Given the description of an element on the screen output the (x, y) to click on. 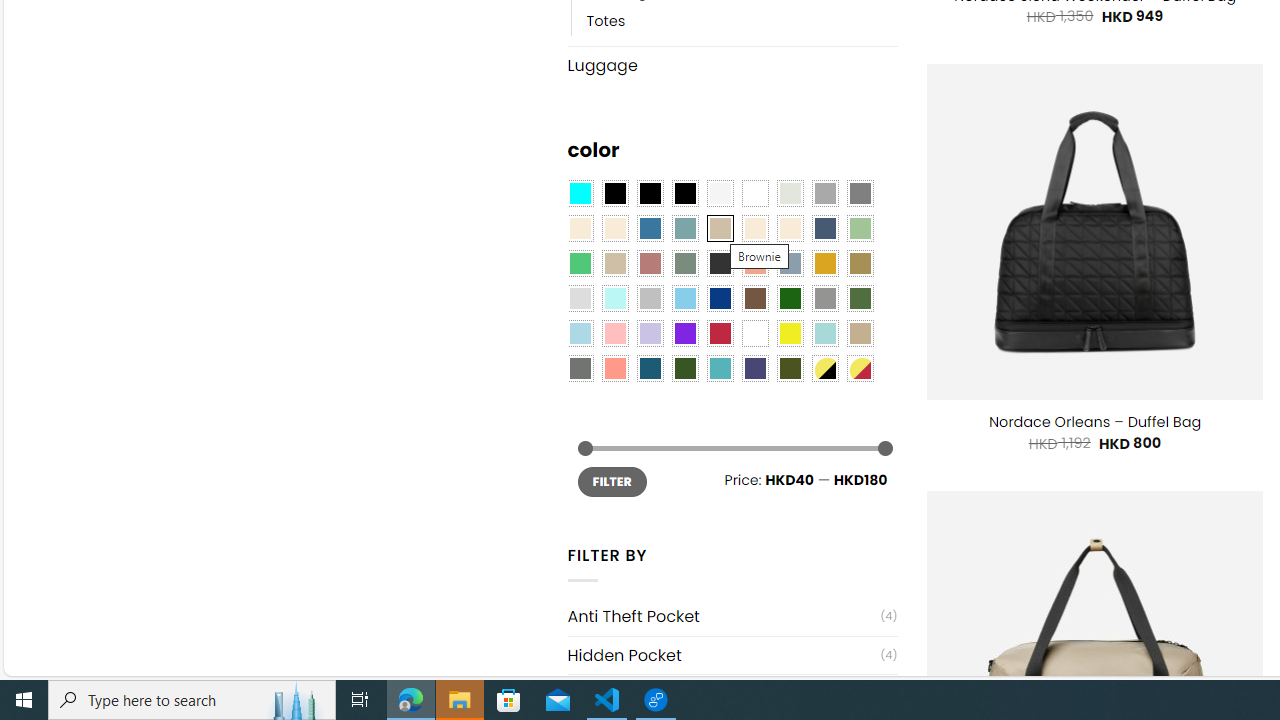
Blue (650, 228)
Beige (579, 228)
Pearly White (719, 193)
Cream (789, 228)
Yellow-Black (824, 368)
Khaki (859, 334)
Peach Pink (614, 368)
Aqua (824, 334)
Brown (755, 298)
Light Taupe (614, 264)
Red (719, 334)
Yellow-Red (859, 368)
Kelp (859, 264)
FILTER (612, 481)
Pink (614, 334)
